Given the description of an element on the screen output the (x, y) to click on. 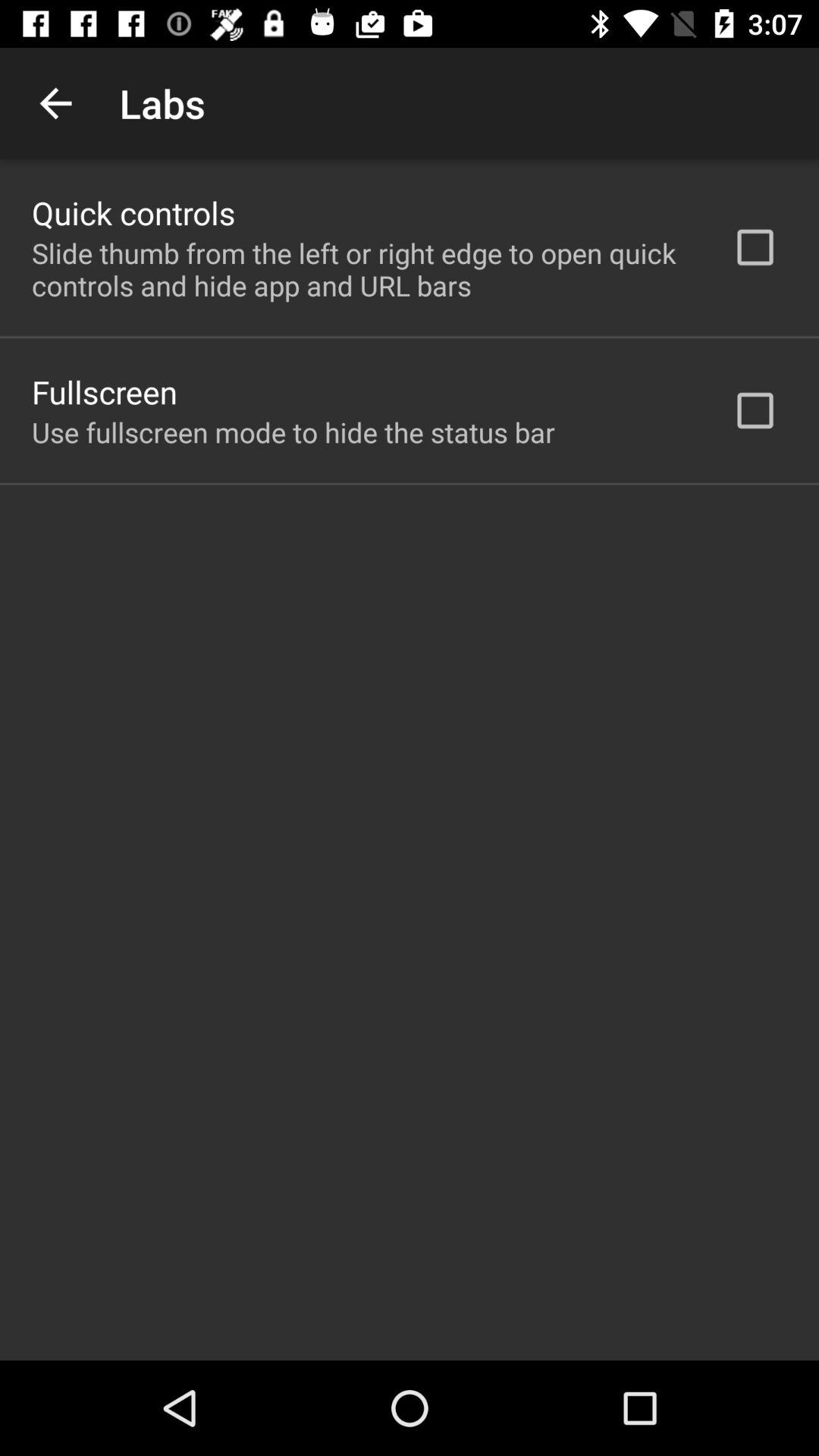
turn on the use fullscreen mode item (293, 432)
